Given the description of an element on the screen output the (x, y) to click on. 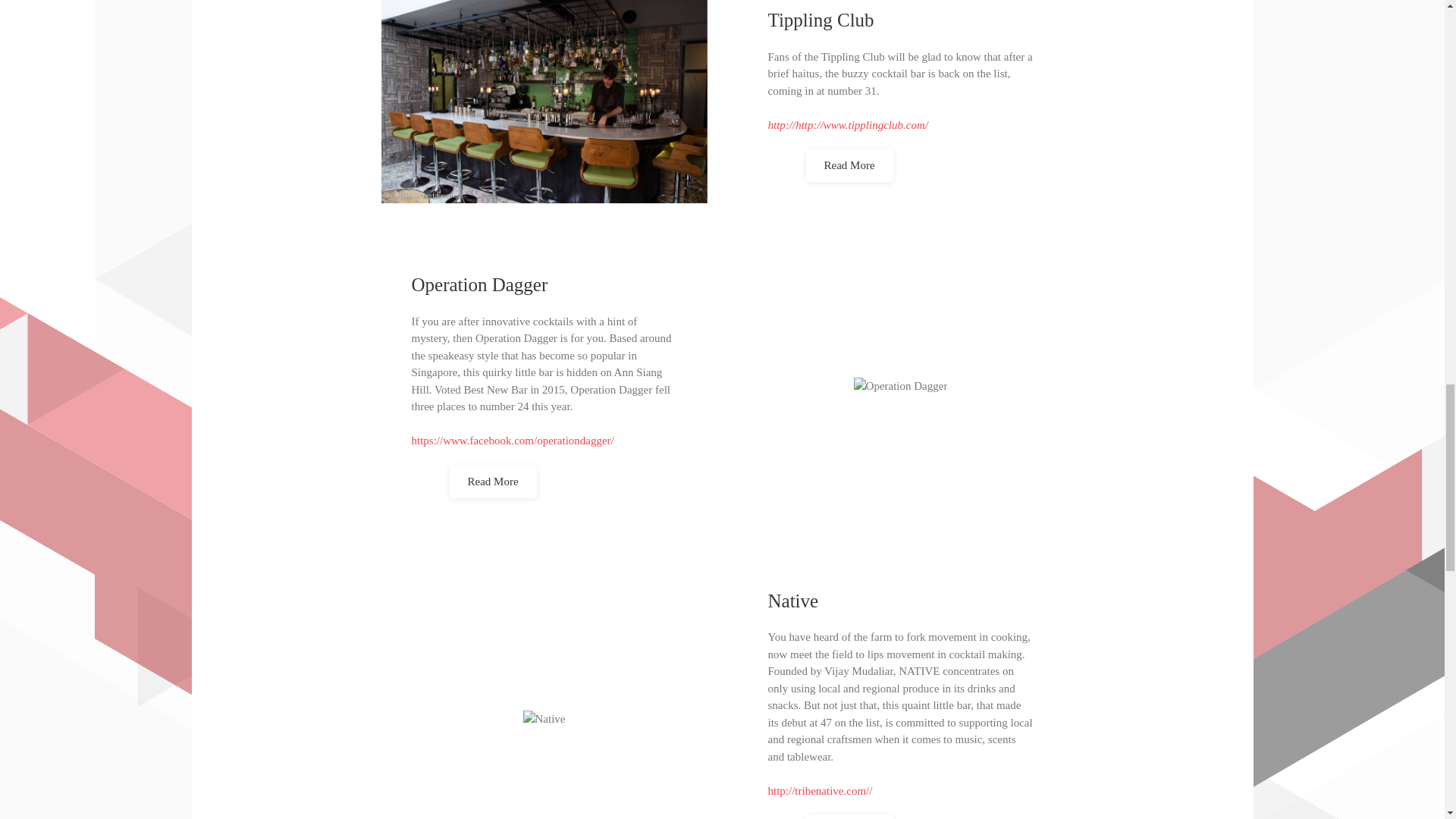
Native (792, 600)
Operation Dagger (478, 284)
Read More (491, 481)
Tippling Club (820, 19)
Read More (848, 816)
Read More (848, 164)
